Given the description of an element on the screen output the (x, y) to click on. 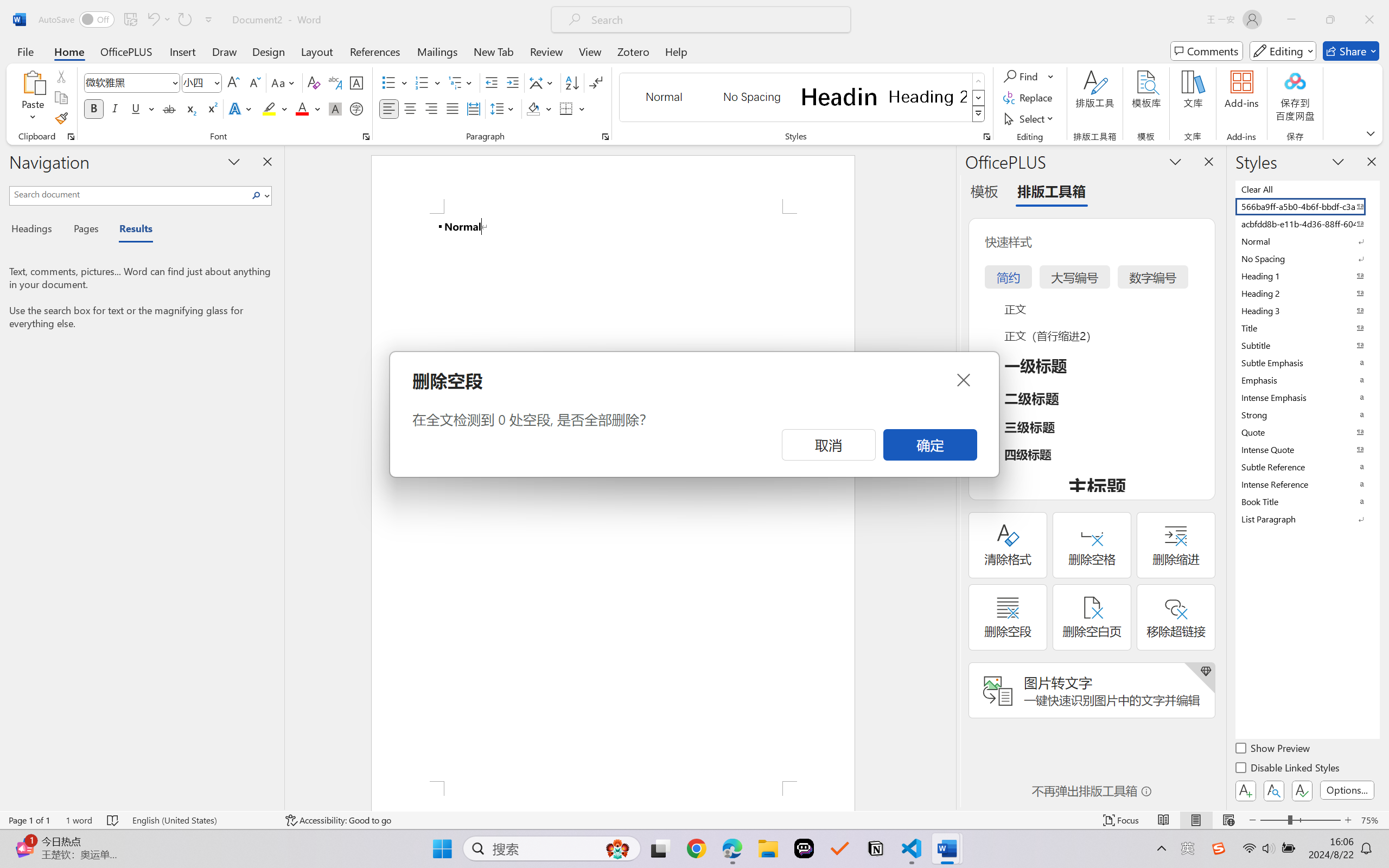
Class: NetUIImage (978, 114)
Align Left (388, 108)
Justify (452, 108)
Intense Reference (1306, 484)
Font (132, 82)
Customize Quick Access Toolbar (208, 19)
Search (256, 195)
Zoom In (1348, 819)
Subtle Reference (1306, 466)
Show/Hide Editing Marks (595, 82)
566ba9ff-a5b0-4b6f-bbdf-c3ab41993fc2 (1306, 206)
Font... (365, 136)
